Given the description of an element on the screen output the (x, y) to click on. 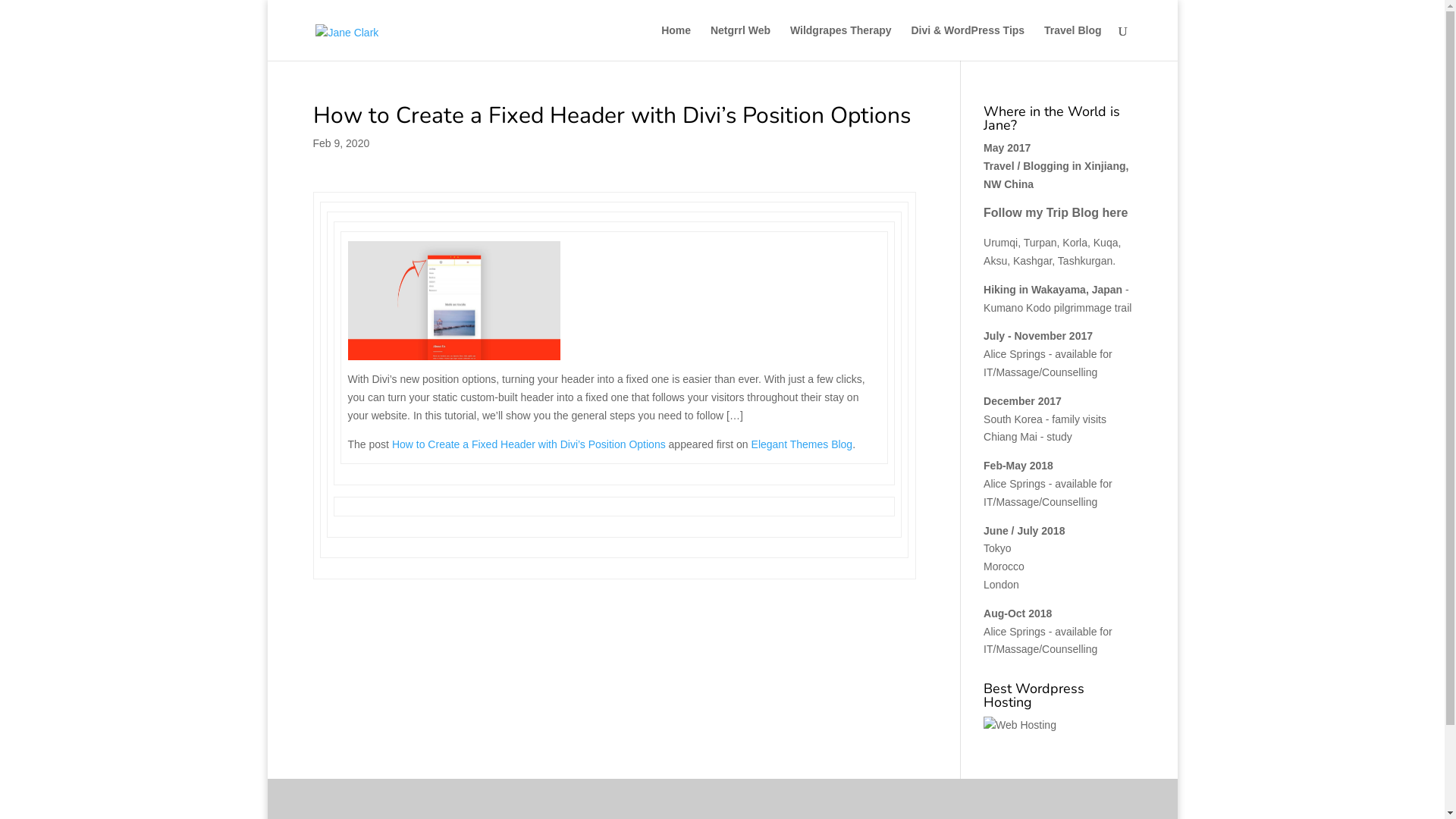
Netgrrl Web Element type: text (740, 42)
Home Element type: text (675, 42)
Travel Blog Element type: text (1072, 42)
Elegant Themes Blog Element type: text (802, 444)
Follow my Trip Blog here Element type: text (1055, 212)
Divi & WordPress Tips Element type: text (968, 42)
Wildgrapes Therapy Element type: text (840, 42)
